Given the description of an element on the screen output the (x, y) to click on. 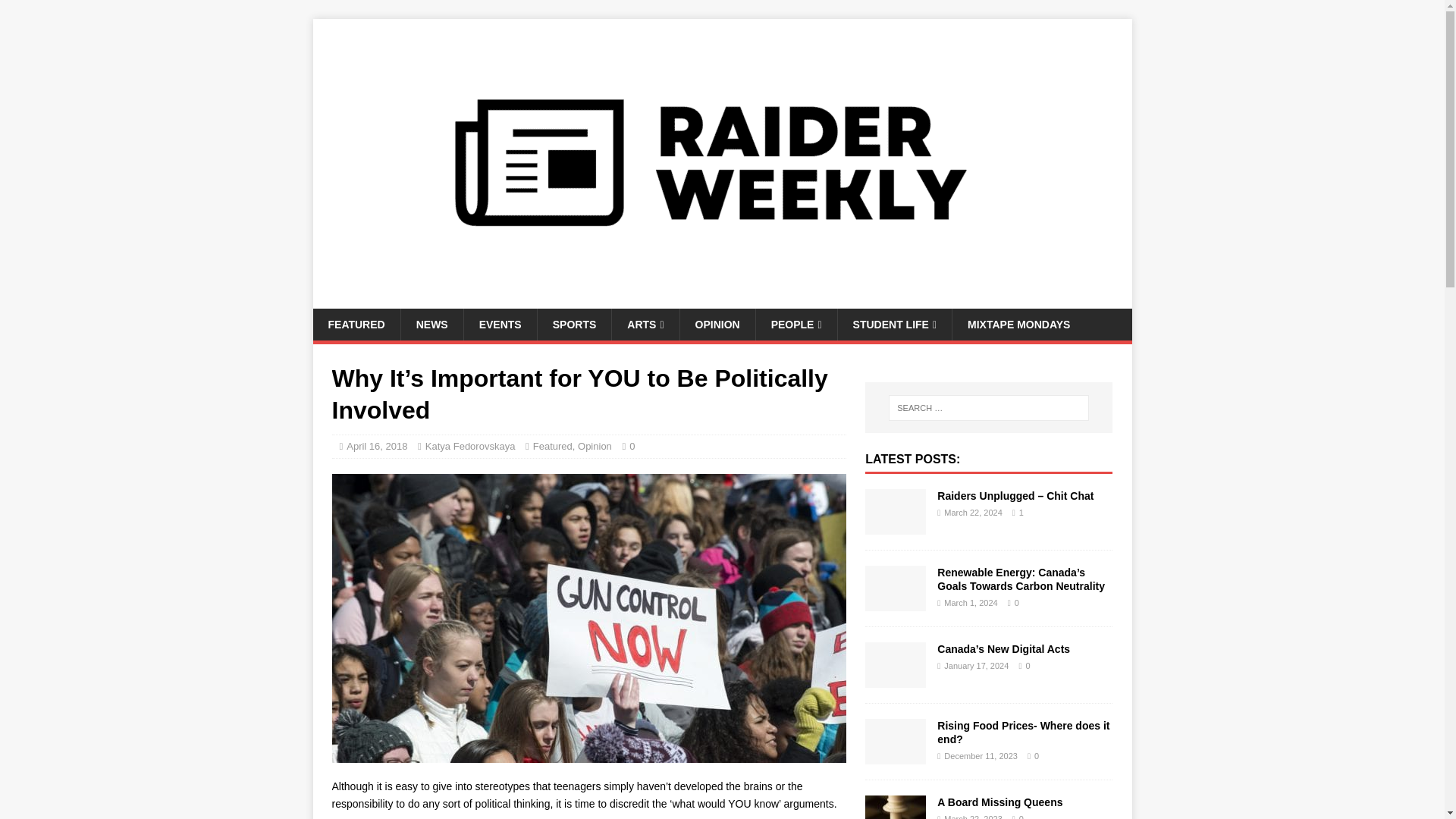
PEOPLE (796, 324)
Rising Food Prices- Where does it end? (1023, 732)
FEATURED (355, 324)
Rising Food Prices- Where does it end? (895, 755)
STUDENT LIFE (894, 324)
SPORTS (574, 324)
EVENTS (500, 324)
A Board Missing Queens (999, 802)
OPINION (717, 324)
ARTS (644, 324)
NEWS (431, 324)
